Given the description of an element on the screen output the (x, y) to click on. 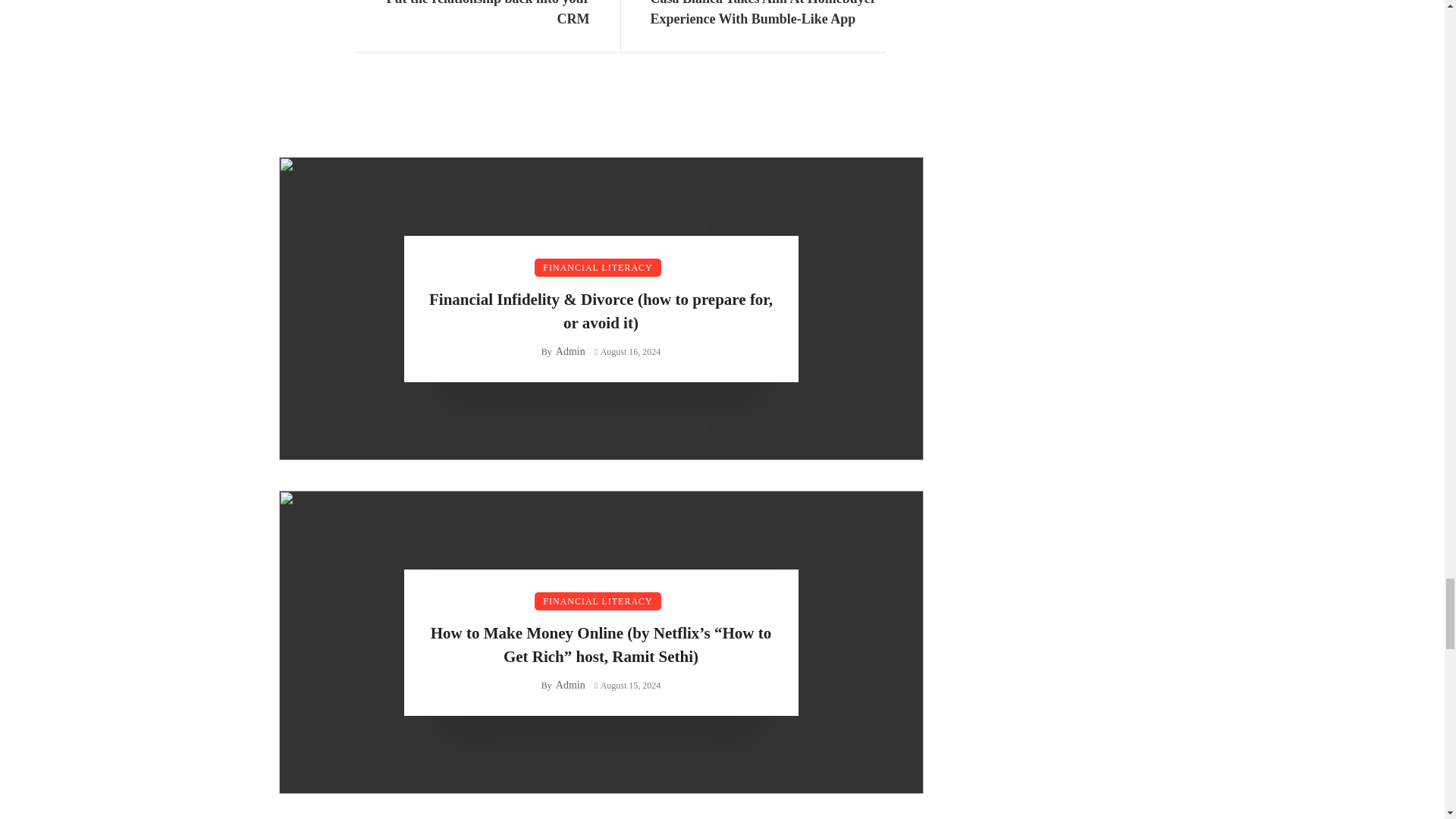
Put the relationship back into your CRM (472, 14)
FINANCIAL LITERACY (597, 267)
